Given the description of an element on the screen output the (x, y) to click on. 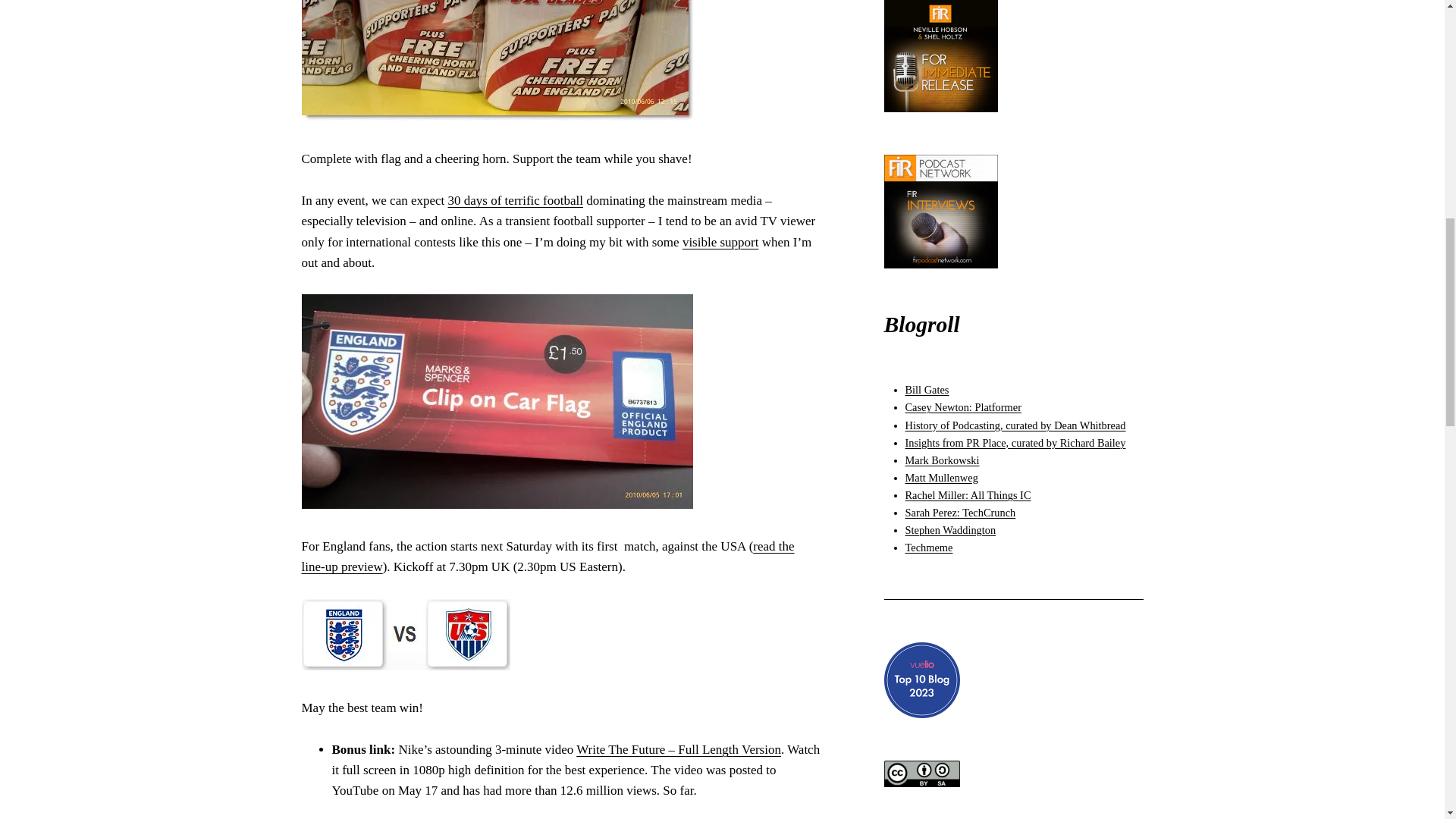
visible support (720, 242)
30 days of terrific football (515, 200)
cliponcarflag (497, 401)
read the line-up preview (547, 556)
englandvsusa (406, 634)
fusionworldcup (497, 60)
